Given the description of an element on the screen output the (x, y) to click on. 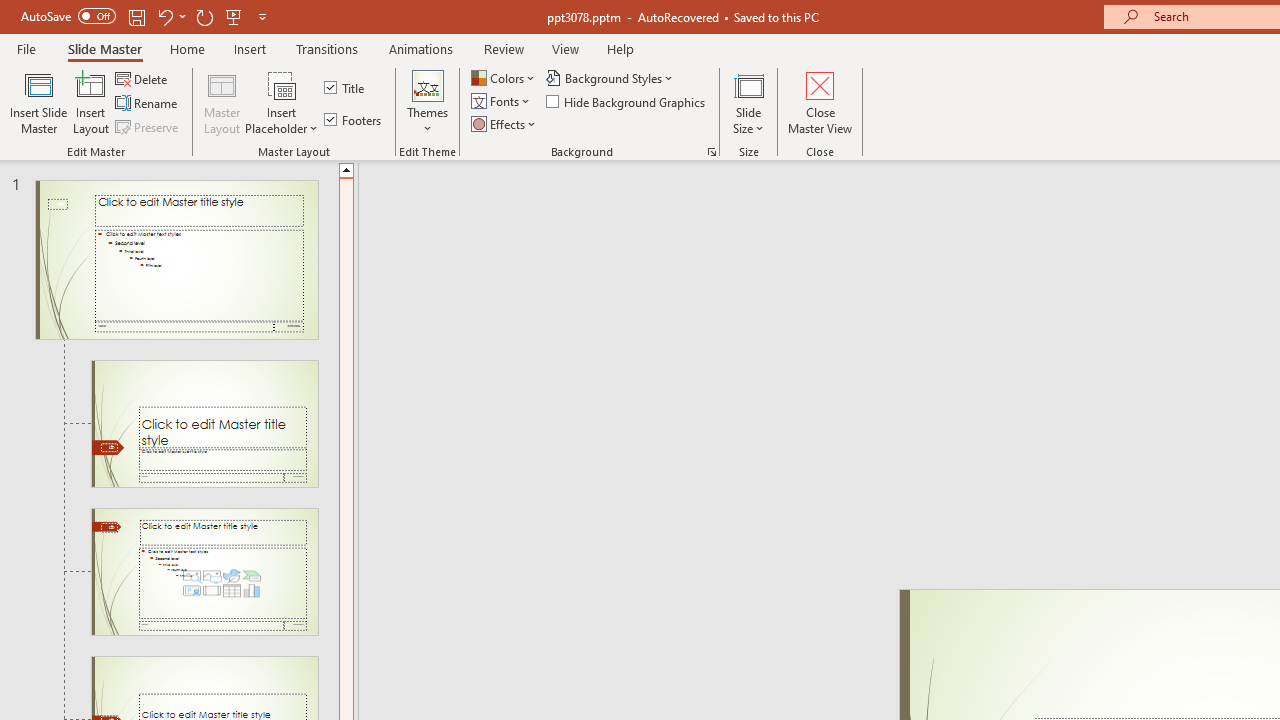
Slide Size (749, 102)
Effects (505, 124)
Insert Layout (91, 102)
Colors (504, 78)
Background Styles (610, 78)
Insert Placeholder (282, 102)
Content (282, 84)
